Given the description of an element on the screen output the (x, y) to click on. 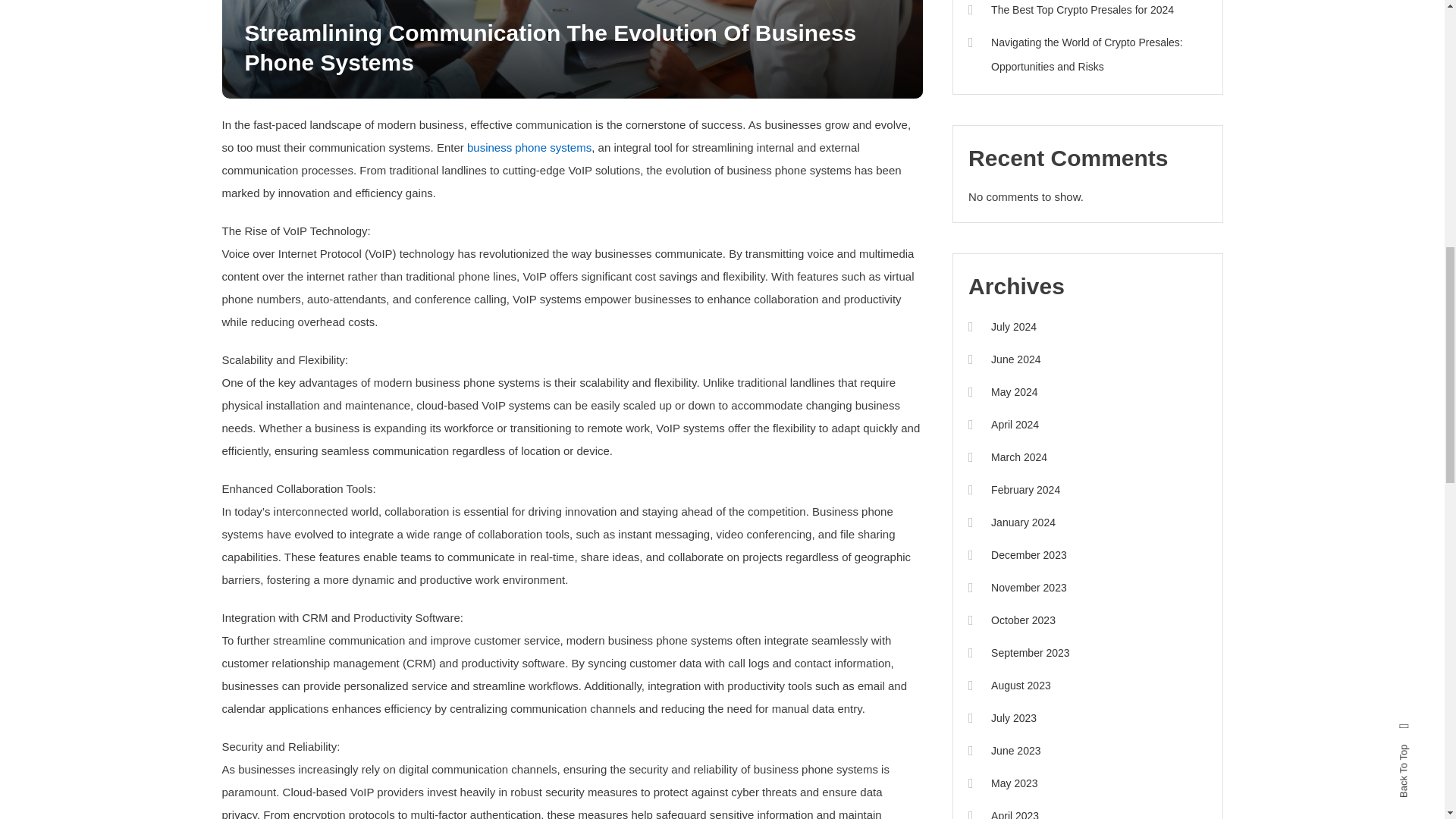
business phone systems (529, 146)
March 11, 2024 (280, 1)
admin (367, 1)
